Given the description of an element on the screen output the (x, y) to click on. 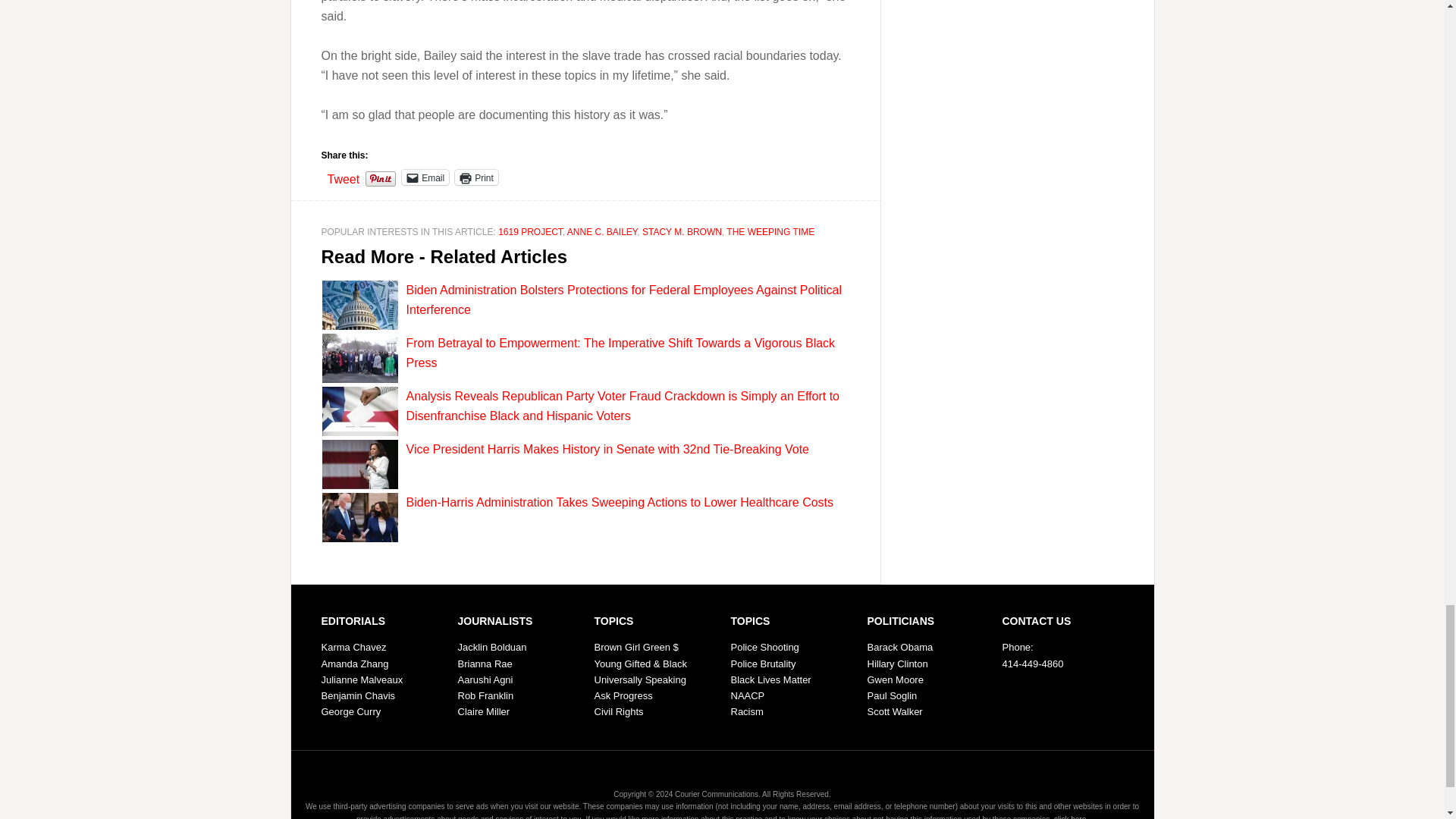
Email (424, 177)
STACY M. BROWN (682, 231)
Print (475, 177)
Click to print (475, 177)
THE WEEPING TIME (769, 231)
Click to email a link to a friend (424, 177)
1619 PROJECT (529, 231)
ANNE C. BAILEY (602, 231)
Tweet (343, 176)
